Given the description of an element on the screen output the (x, y) to click on. 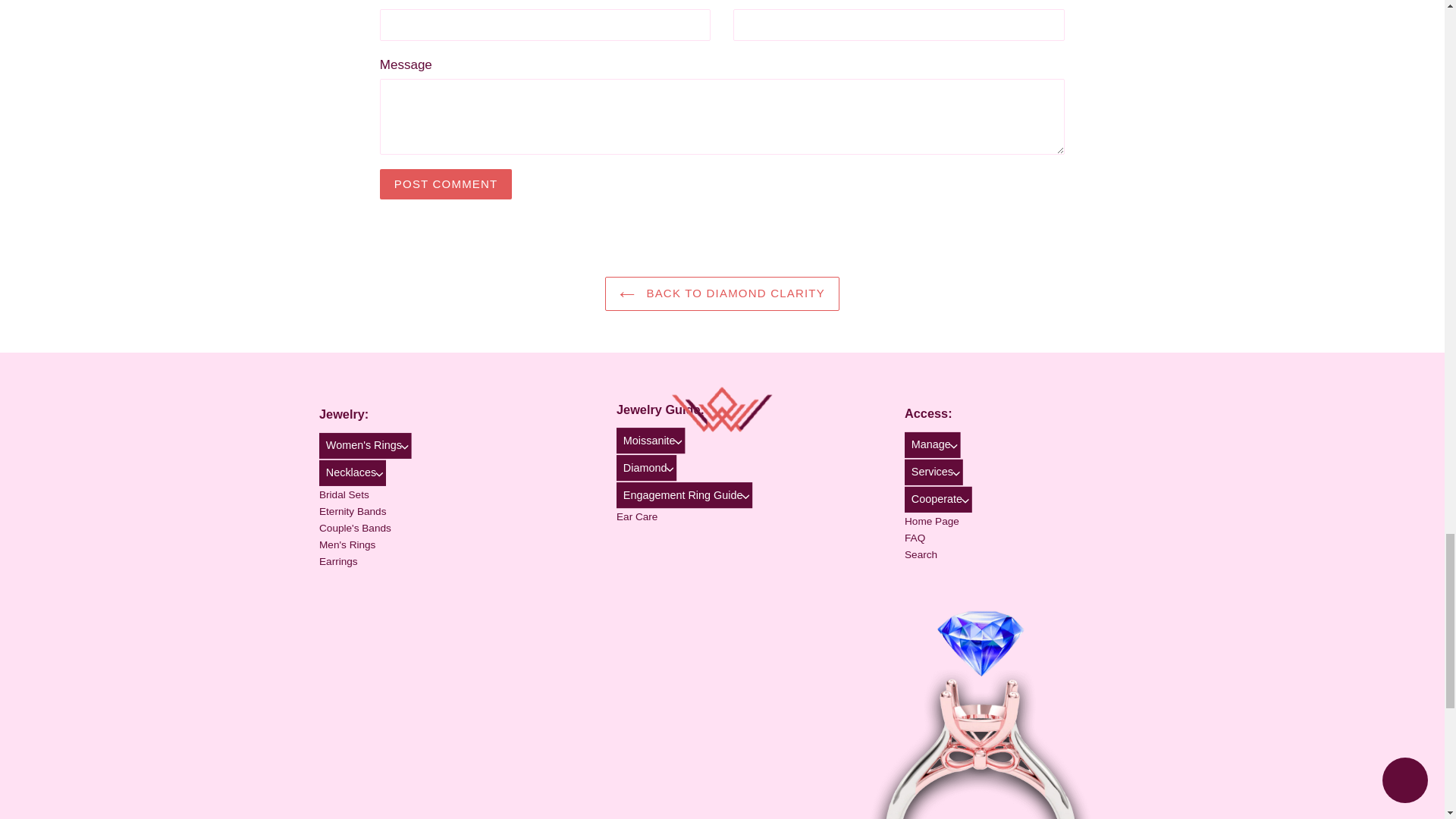
Post comment (1038, 504)
